Given the description of an element on the screen output the (x, y) to click on. 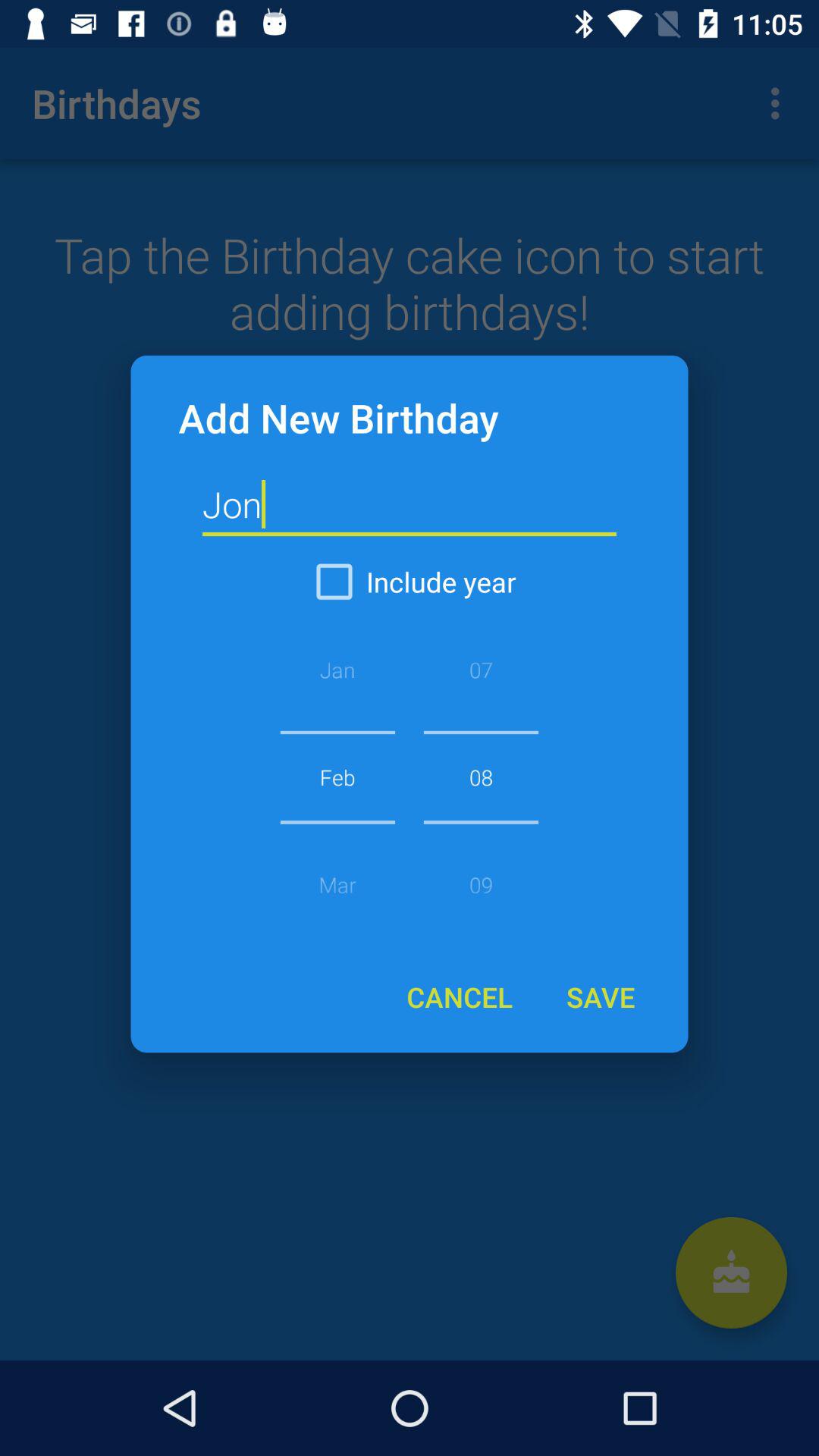
tap the icon at the bottom (459, 996)
